Given the description of an element on the screen output the (x, y) to click on. 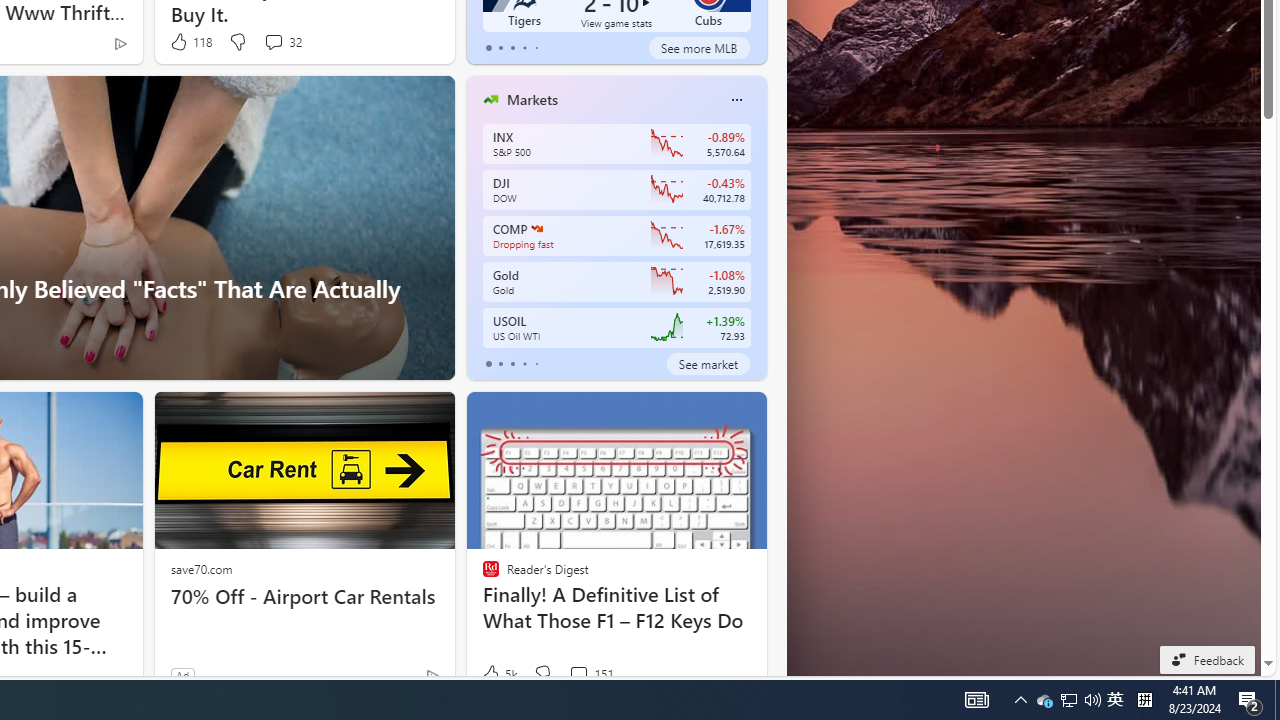
tab-0 (488, 363)
View comments 151 Comment (591, 674)
70% Off - Airport Car Rentals (304, 596)
View comments 151 Comment (578, 673)
tab-1 (500, 363)
Class: icon-img (736, 100)
View comments 32 Comment (273, 41)
Markets (531, 99)
5k Like (498, 674)
NASDAQ (535, 228)
Ad Choice (432, 675)
See market (708, 363)
